Given the description of an element on the screen output the (x, y) to click on. 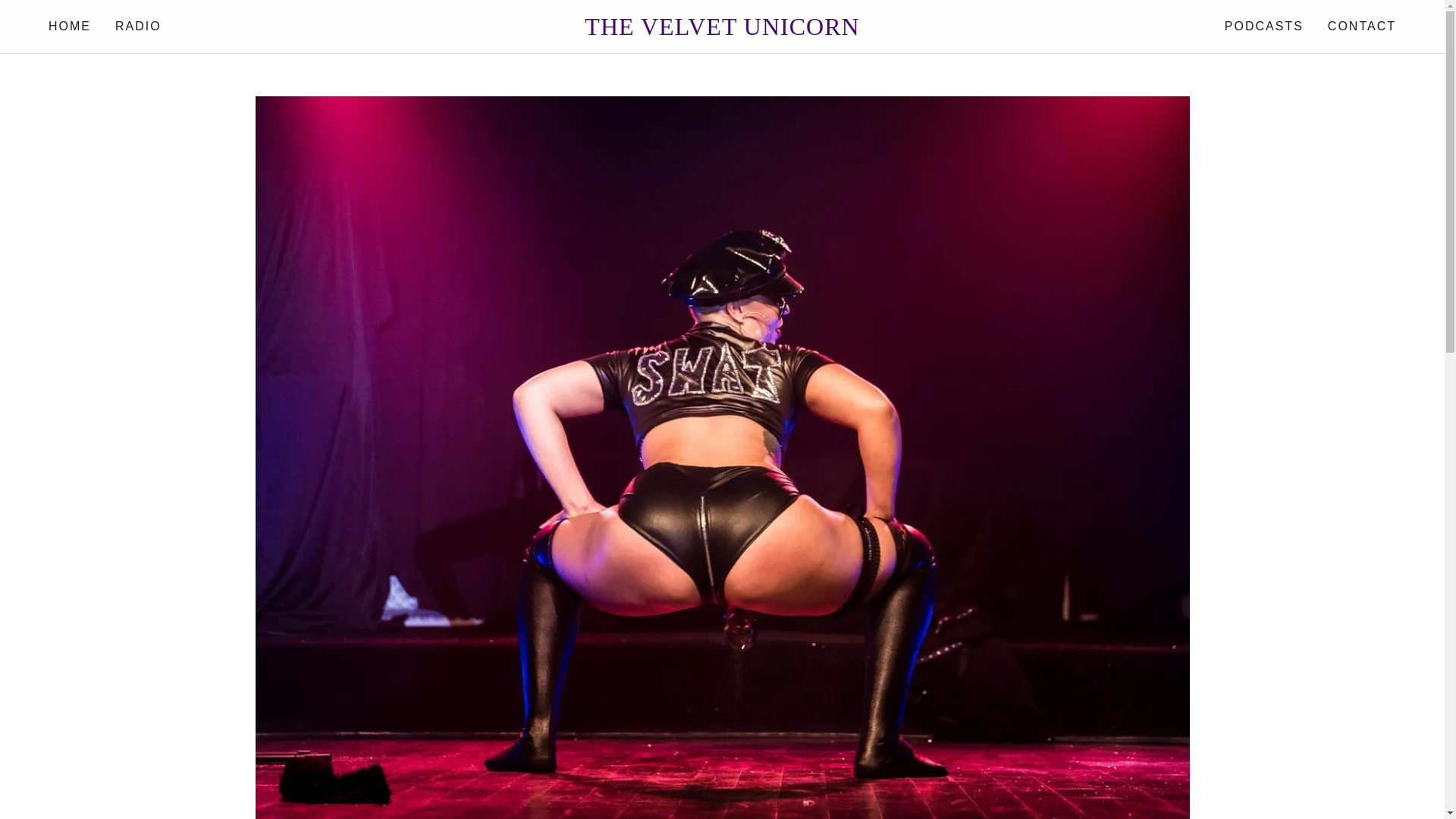
CONTACT (1361, 26)
the velvet unicorn (721, 29)
RADIO (137, 26)
THE VELVET UNICORN (721, 29)
HOME (69, 26)
PODCASTS (1263, 26)
